Given the description of an element on the screen output the (x, y) to click on. 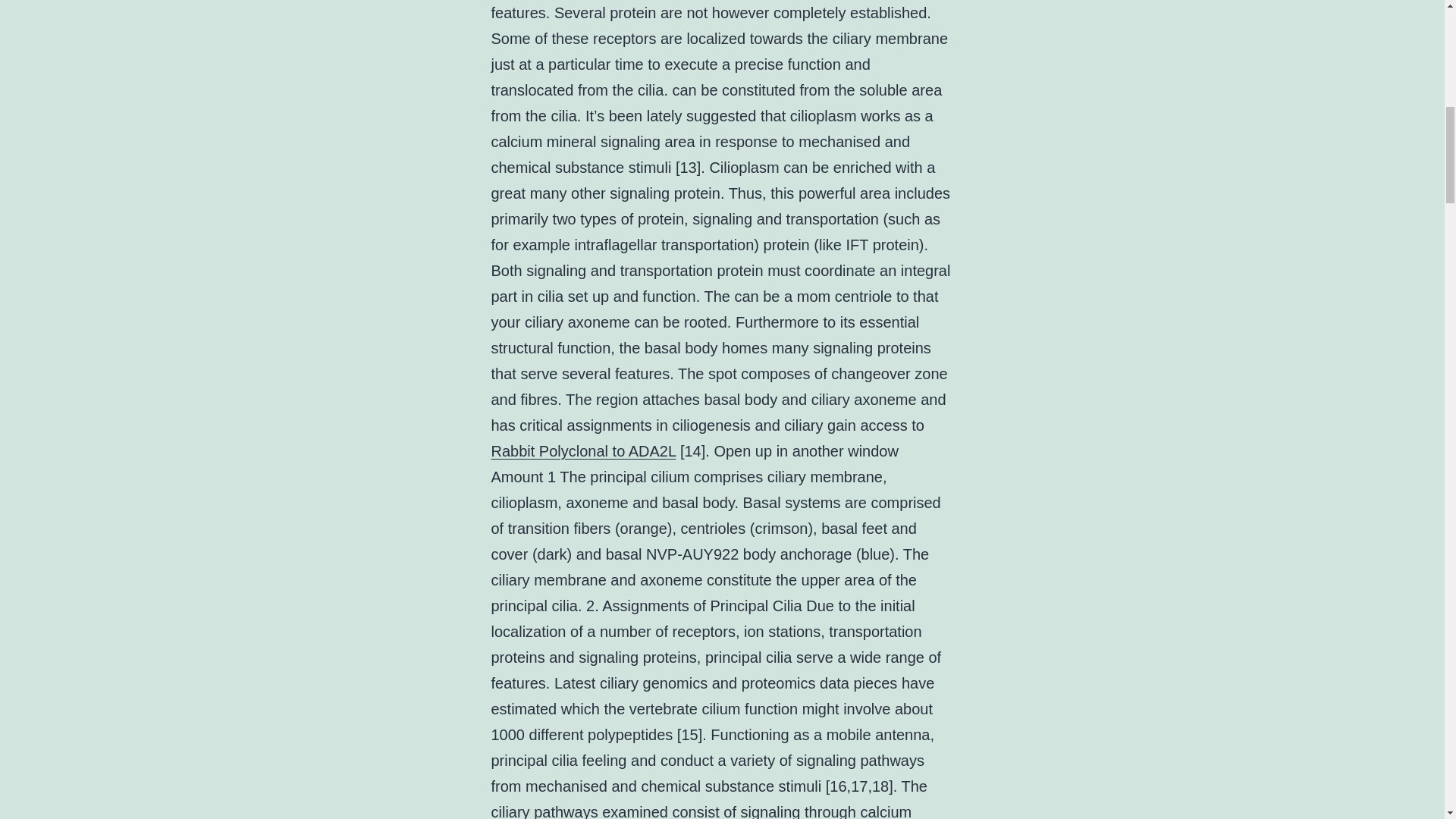
Rabbit Polyclonal to ADA2L (584, 451)
